Given the description of an element on the screen output the (x, y) to click on. 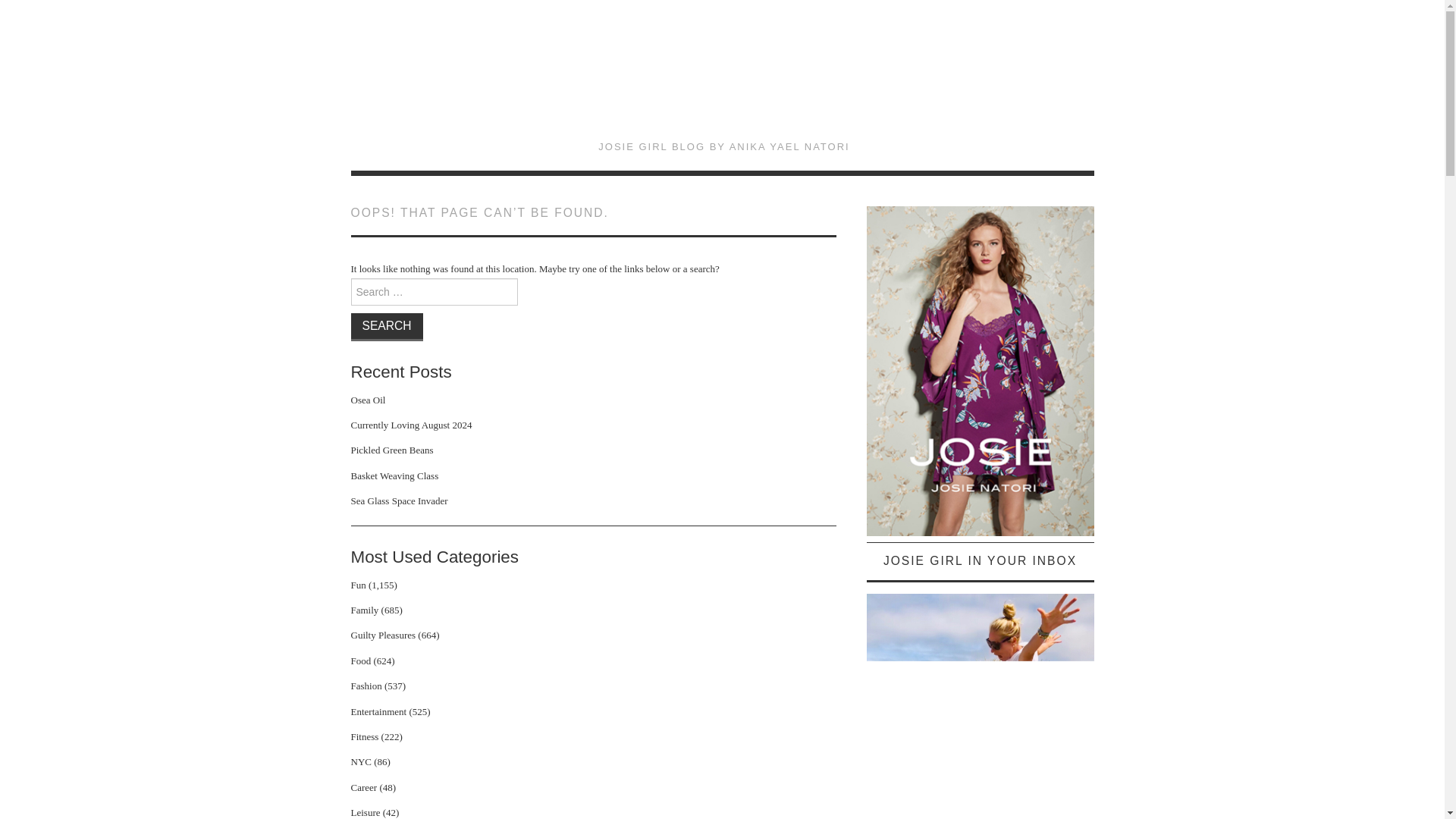
Search (386, 326)
Career (363, 787)
Search (386, 326)
Food (360, 660)
Family (364, 609)
Basket Weaving Class (394, 475)
Leisure (365, 812)
Search (386, 326)
Search for: (433, 290)
Fashion (365, 685)
